Given the description of an element on the screen output the (x, y) to click on. 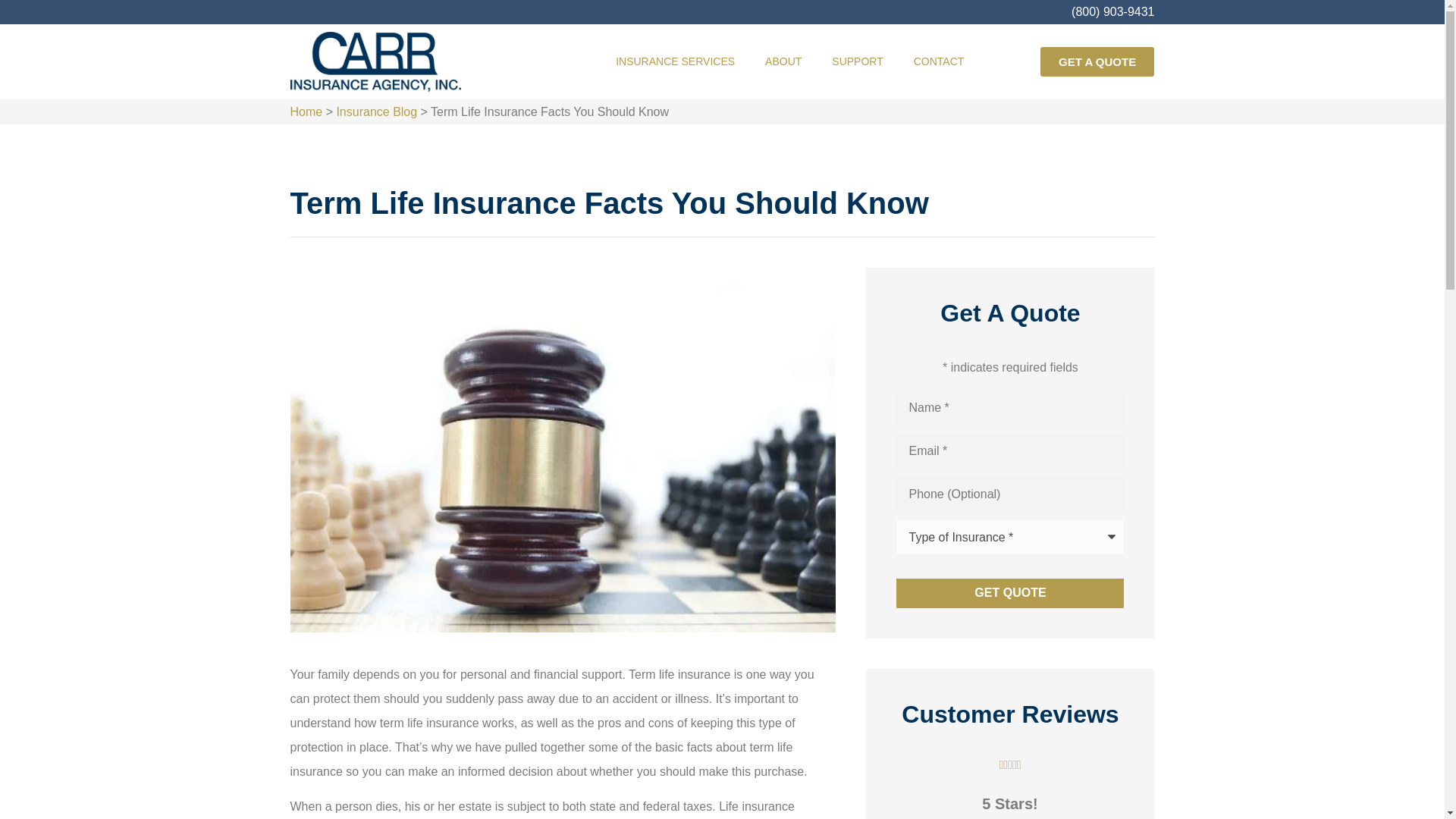
CONTACT (938, 60)
ABOUT (782, 60)
Get Quote (1010, 592)
INSURANCE SERVICES (674, 60)
SUPPORT (857, 60)
